Given the description of an element on the screen output the (x, y) to click on. 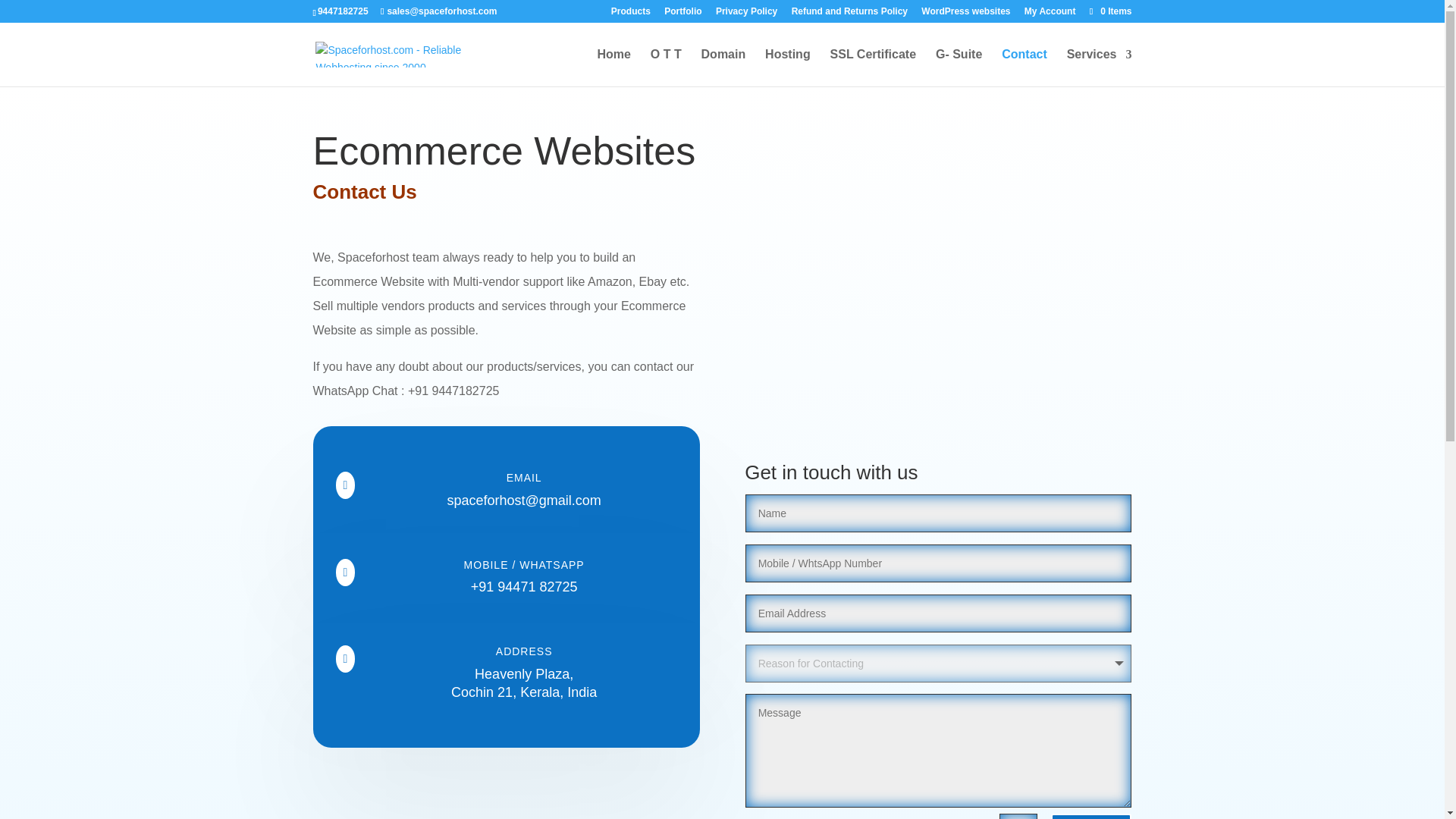
Hosting (787, 67)
Refund and Returns Policy (849, 14)
Submit (1091, 816)
Home (613, 67)
Only numbers allowed. (938, 563)
G- Suite (958, 67)
Domain (723, 67)
WordPress websites (965, 14)
Privacy Policy (746, 14)
Services (1099, 67)
